Given the description of an element on the screen output the (x, y) to click on. 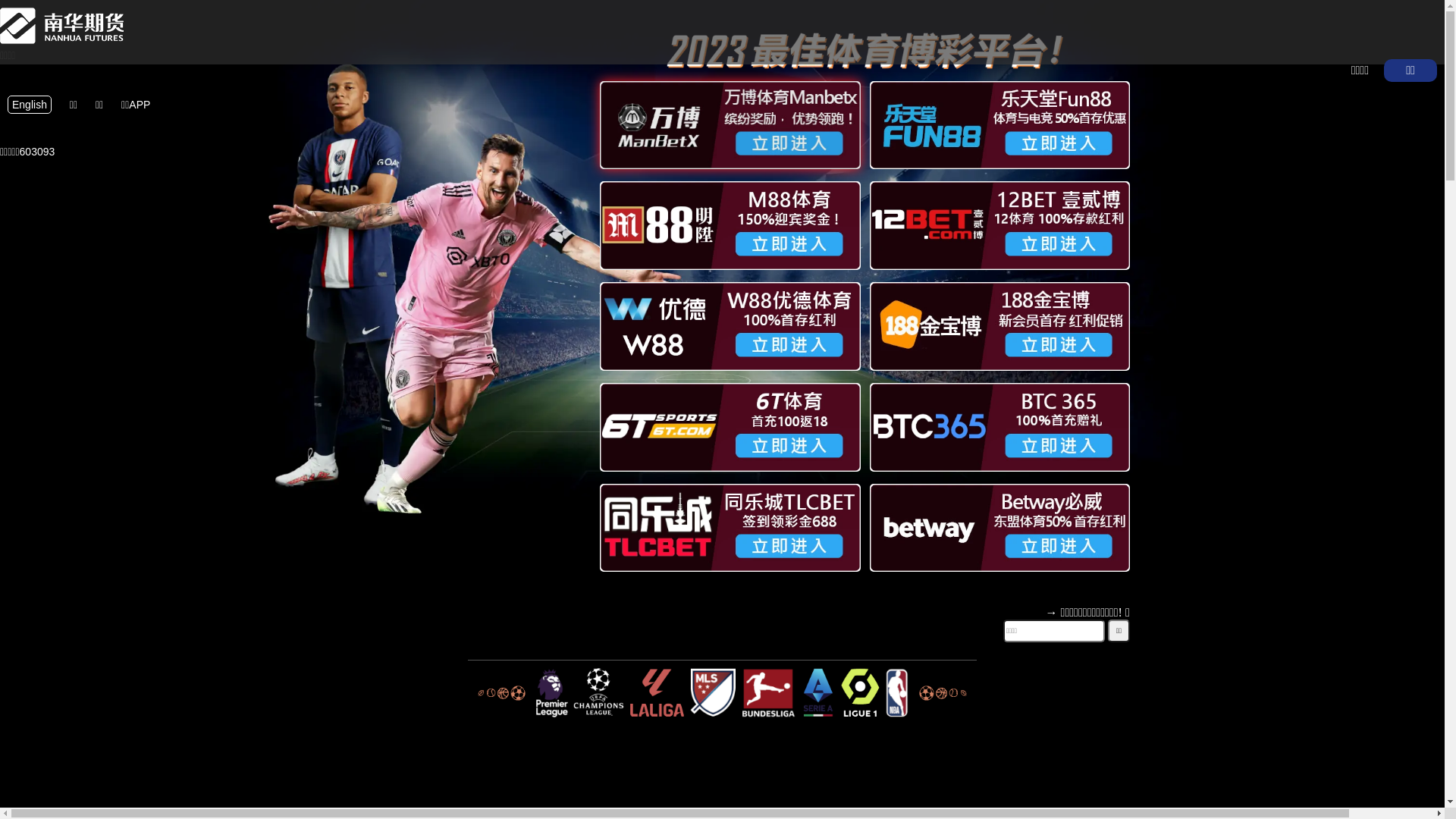
English Element type: text (29, 104)
